Given the description of an element on the screen output the (x, y) to click on. 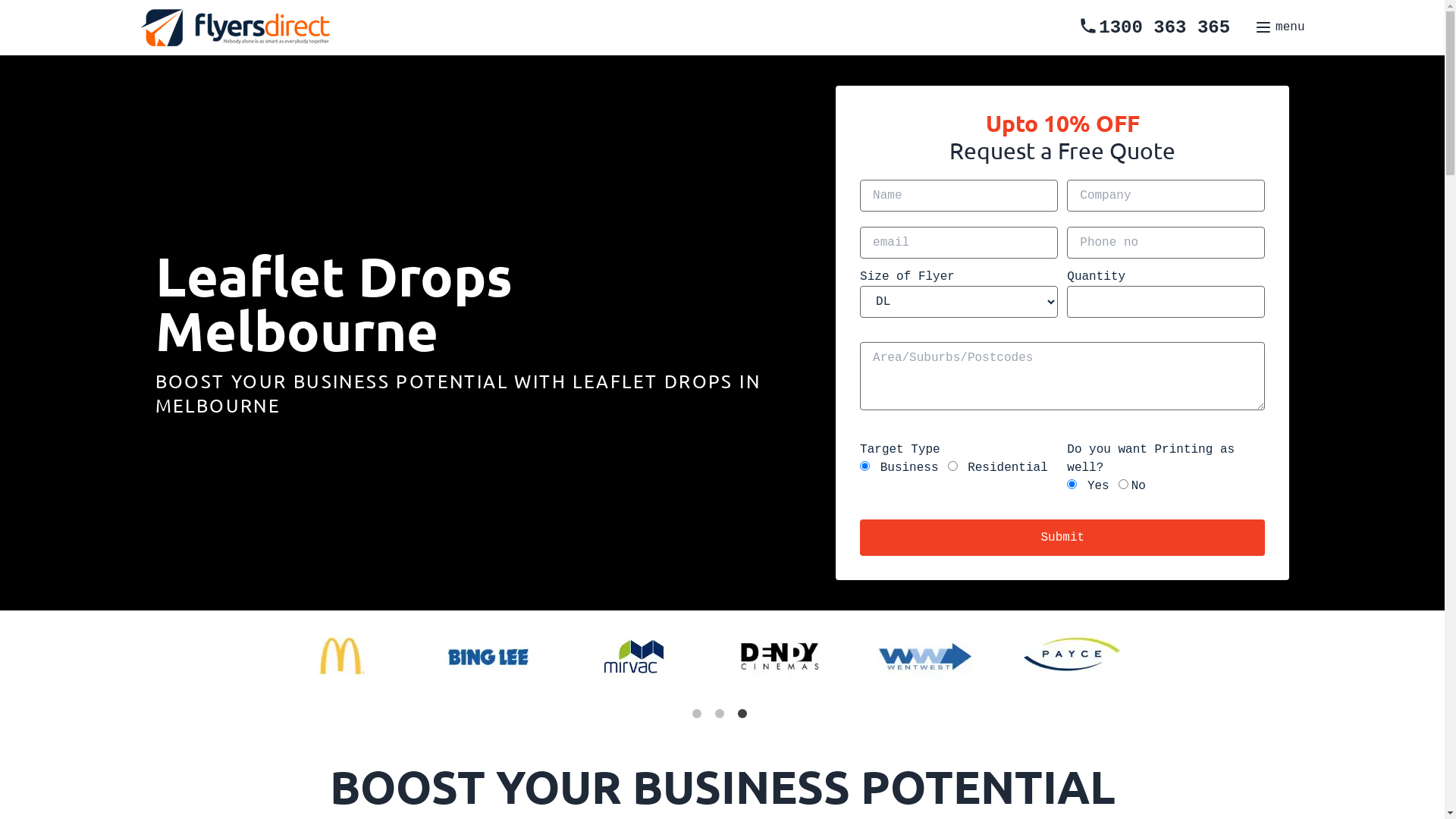
menu Element type: text (1279, 27)
Contact Element type: text (760, 420)
2 Element type: text (721, 716)
1 Element type: text (698, 716)
3 Element type: text (744, 716)
Leaflet Drops Element type: text (784, 420)
1300 363 365 Element type: text (1153, 27)
Blog Element type: text (746, 420)
AVAIL NOW Element type: text (787, 427)
Home Element type: text (752, 420)
Submit Element type: text (1061, 537)
